Given the description of an element on the screen output the (x, y) to click on. 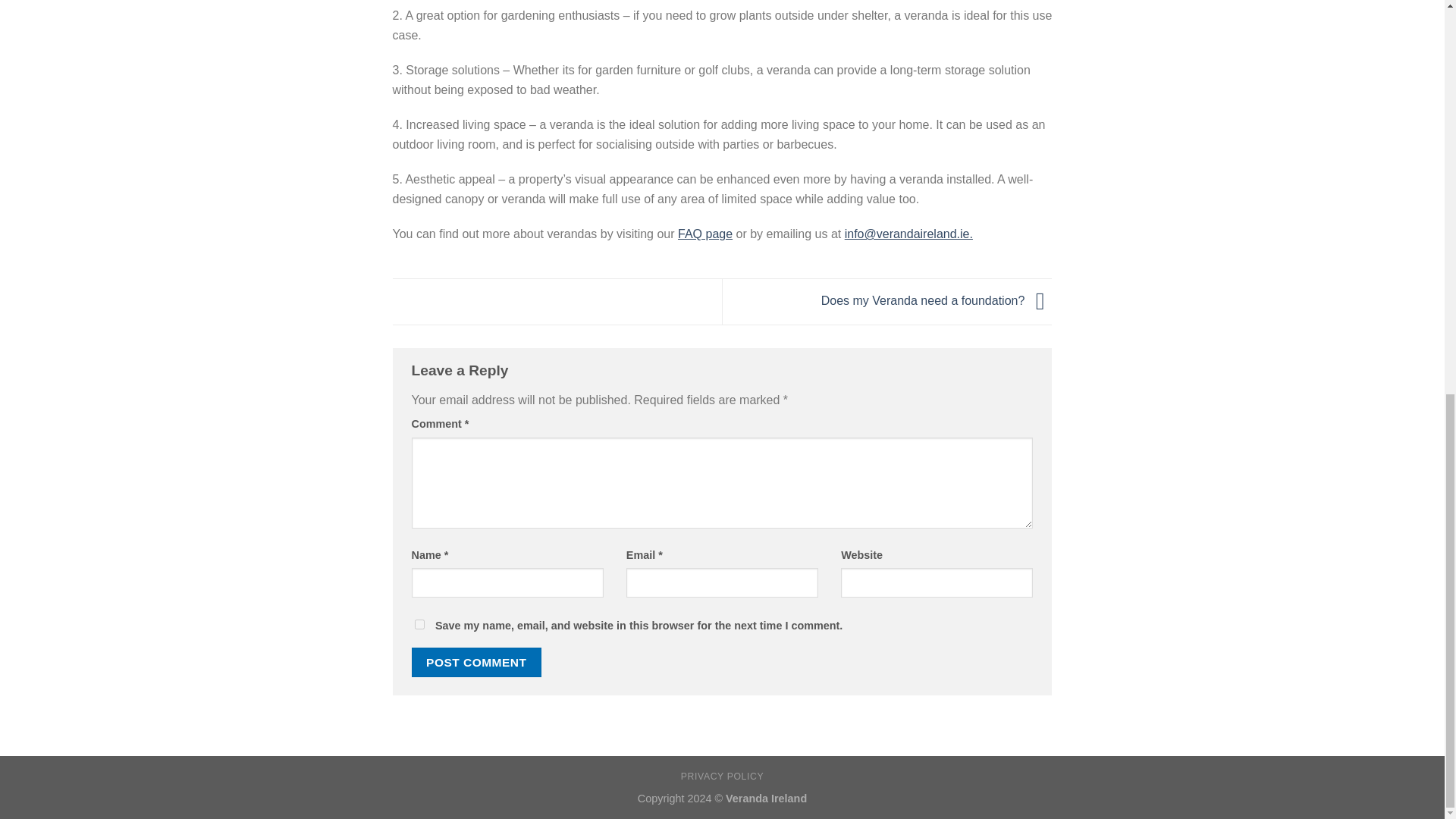
Does my Veranda need a foundation? (936, 300)
FAQ page (705, 233)
yes (418, 624)
Post Comment (475, 662)
Post Comment (475, 662)
PRIVACY POLICY (721, 776)
